Given the description of an element on the screen output the (x, y) to click on. 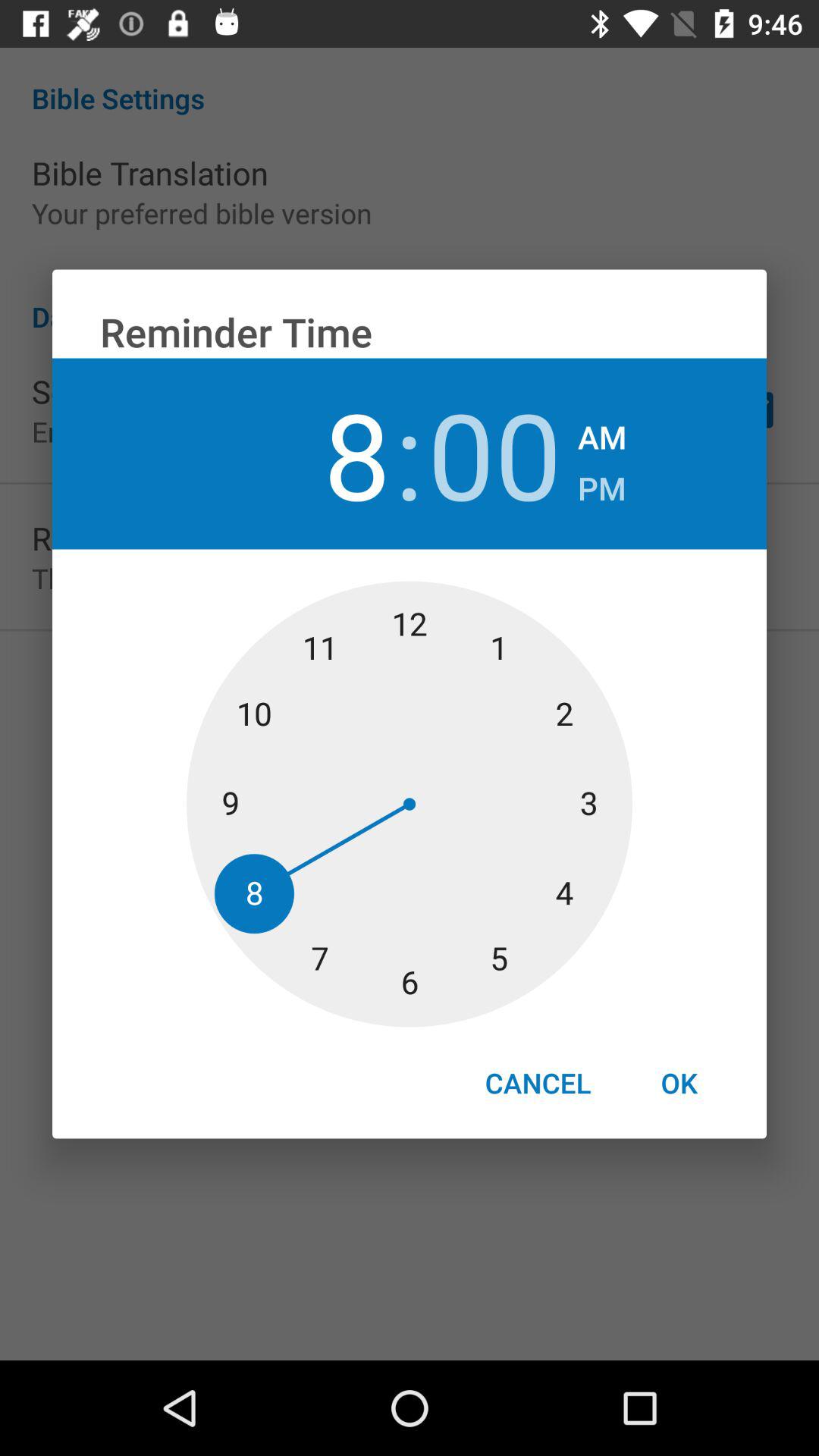
turn off the item next to the 00 item (601, 483)
